Given the description of an element on the screen output the (x, y) to click on. 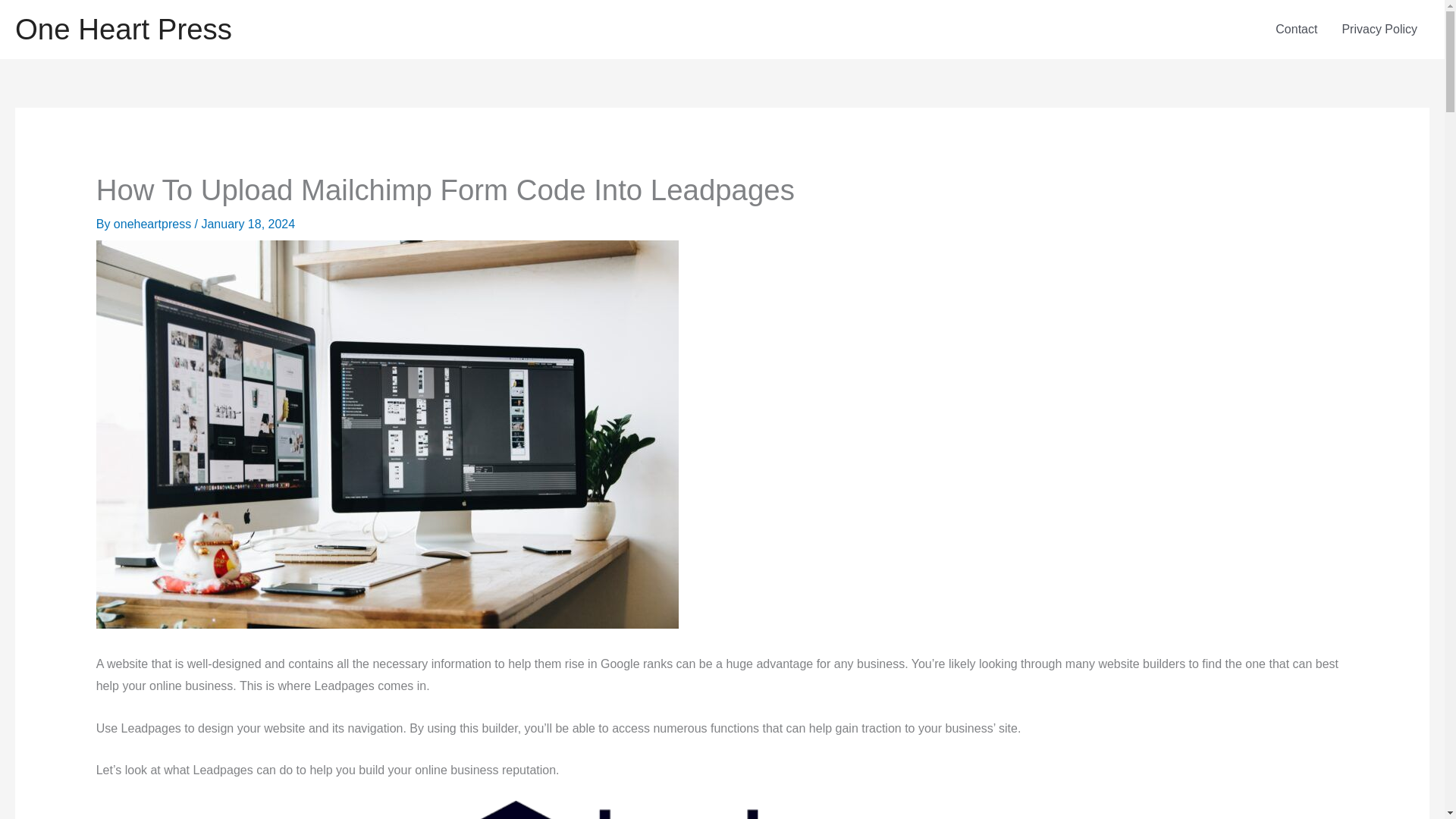
One Heart Press (122, 29)
oneheartpress (154, 223)
Contact (1296, 29)
Privacy Policy (1379, 29)
View all posts by oneheartpress (154, 223)
